Given the description of an element on the screen output the (x, y) to click on. 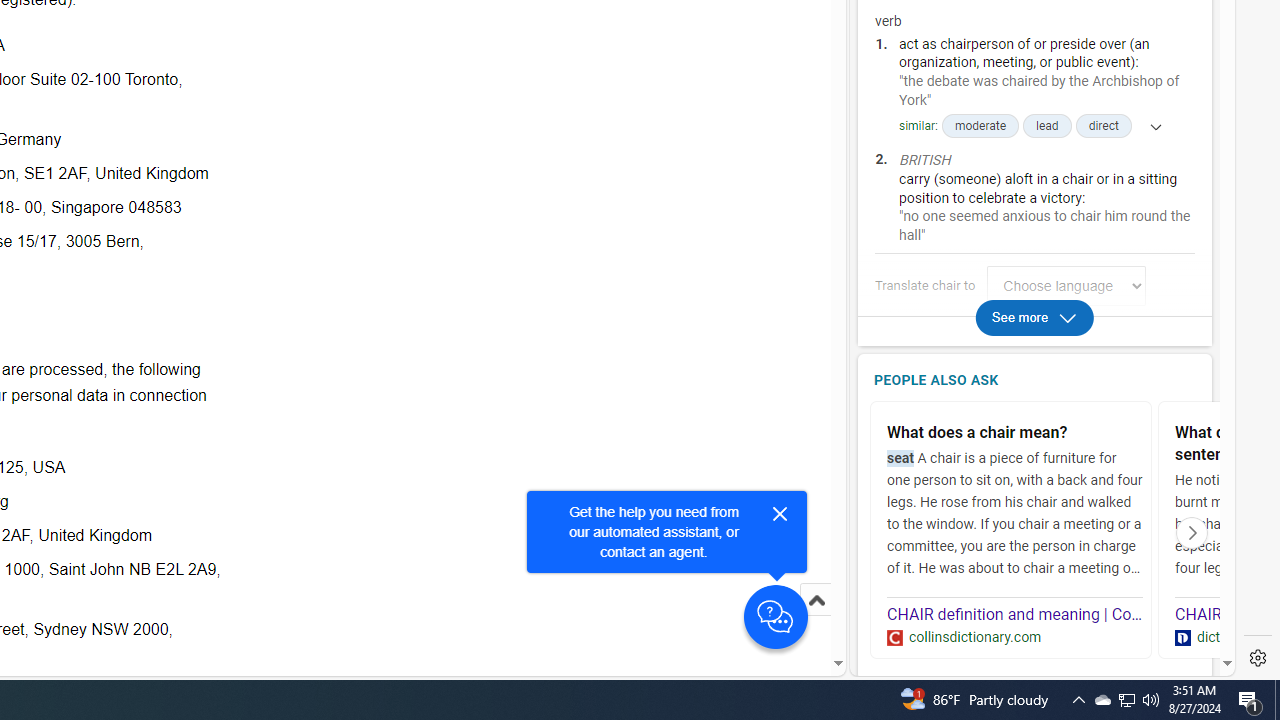
Scroll to top (816, 599)
Scroll to top (816, 620)
moderate (980, 125)
What does a chair mean? (1015, 433)
Translate chair to Choose language (1066, 285)
lead (1047, 125)
Click to scroll right (1192, 532)
